Given the description of an element on the screen output the (x, y) to click on. 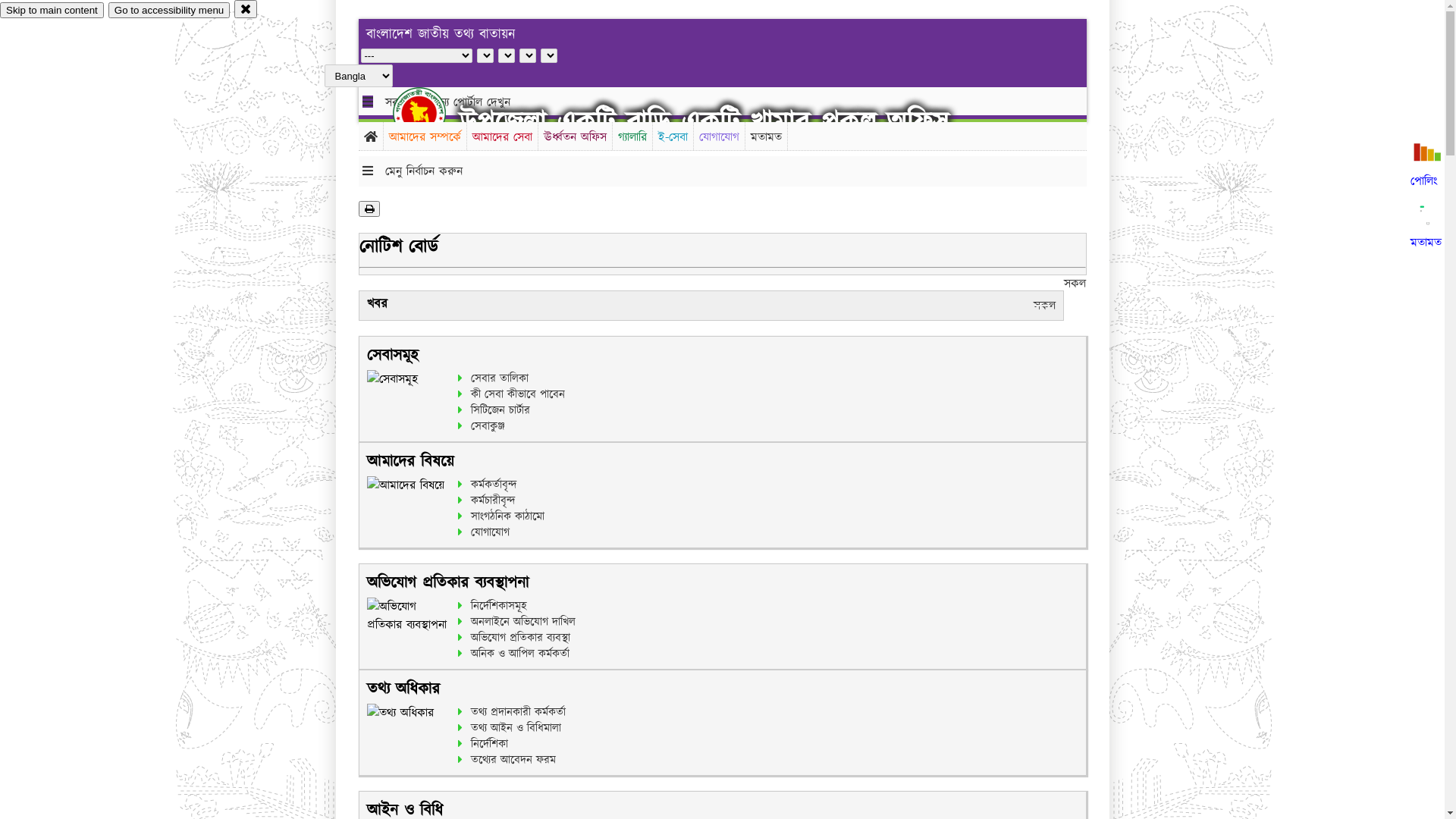

                
             Element type: hover (431, 112)
Skip to main content Element type: text (51, 10)
Go to accessibility menu Element type: text (168, 10)
close Element type: hover (245, 9)
